Given the description of an element on the screen output the (x, y) to click on. 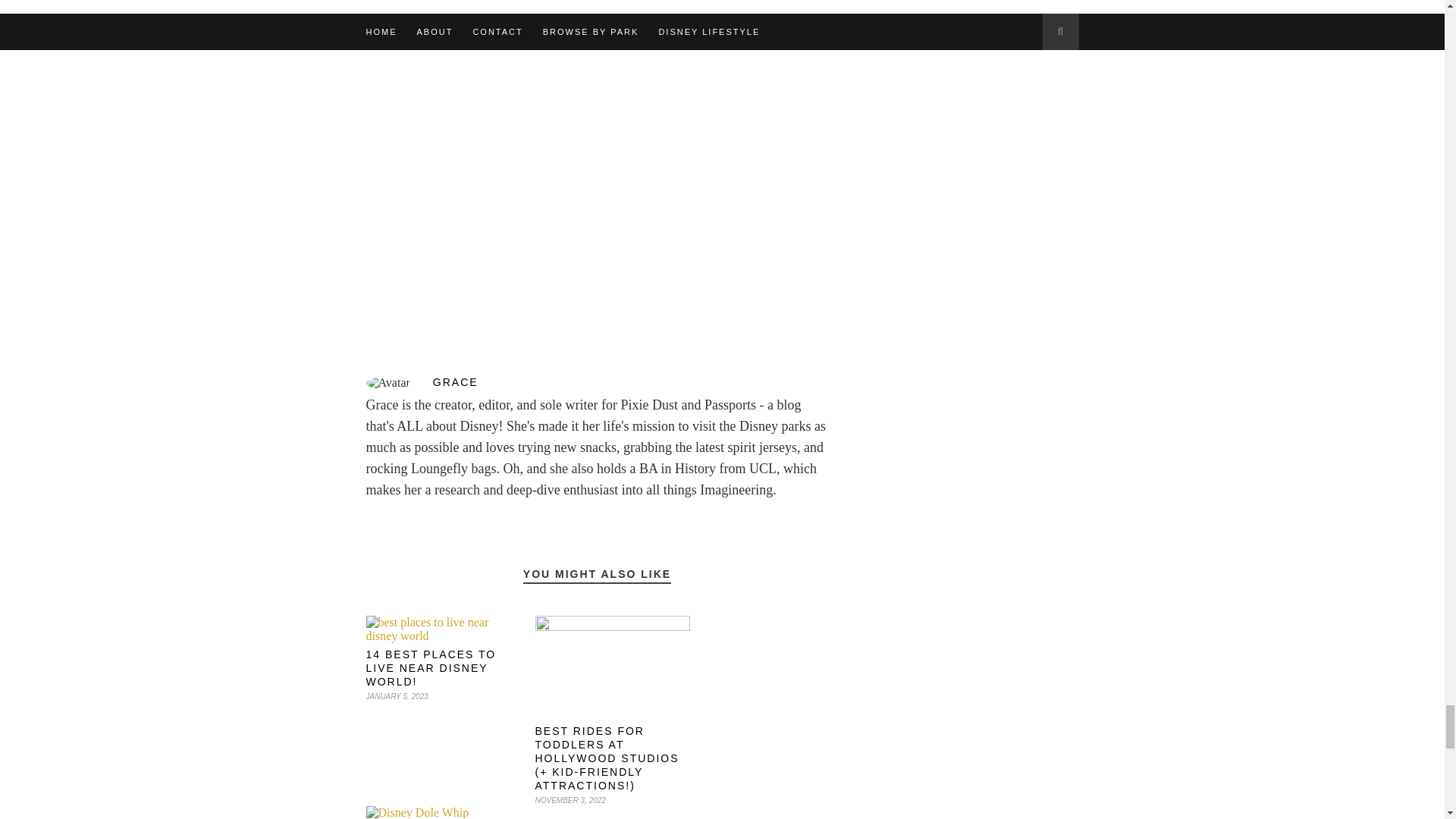
Posts by Grace (596, 381)
